Given the description of an element on the screen output the (x, y) to click on. 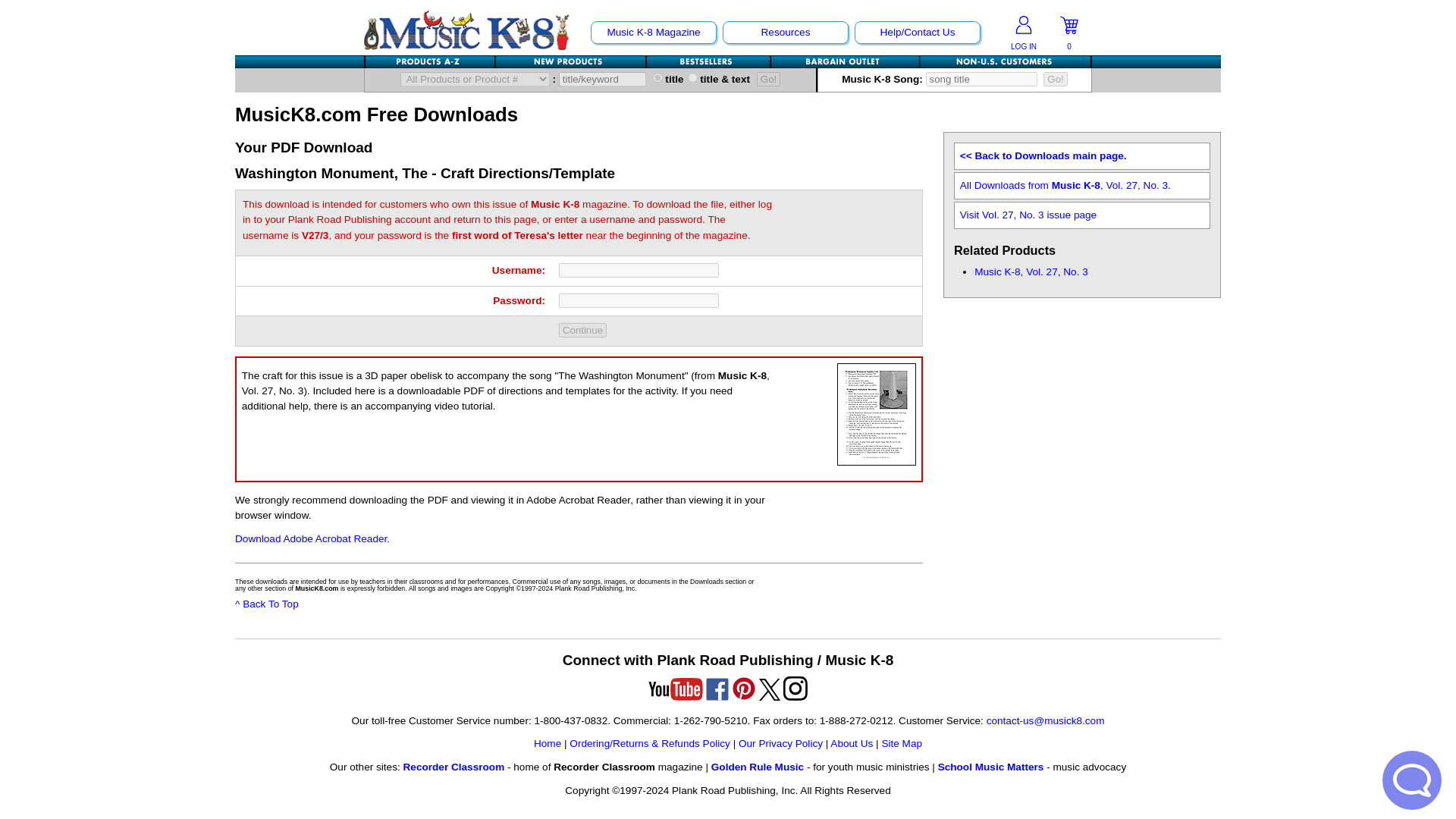
Pinterest (743, 688)
MusicK8.com Worldwide (1005, 61)
Continue (583, 329)
Music K-8 Magazine (653, 32)
Instagram (795, 688)
Facebook (717, 689)
title (657, 77)
New Products (571, 61)
Go! (1055, 79)
YouTube (675, 689)
Bargain Outlet (845, 61)
Go! (768, 79)
Alphabetical Listing (430, 61)
Bestsellers (708, 61)
both (692, 77)
